Given the description of an element on the screen output the (x, y) to click on. 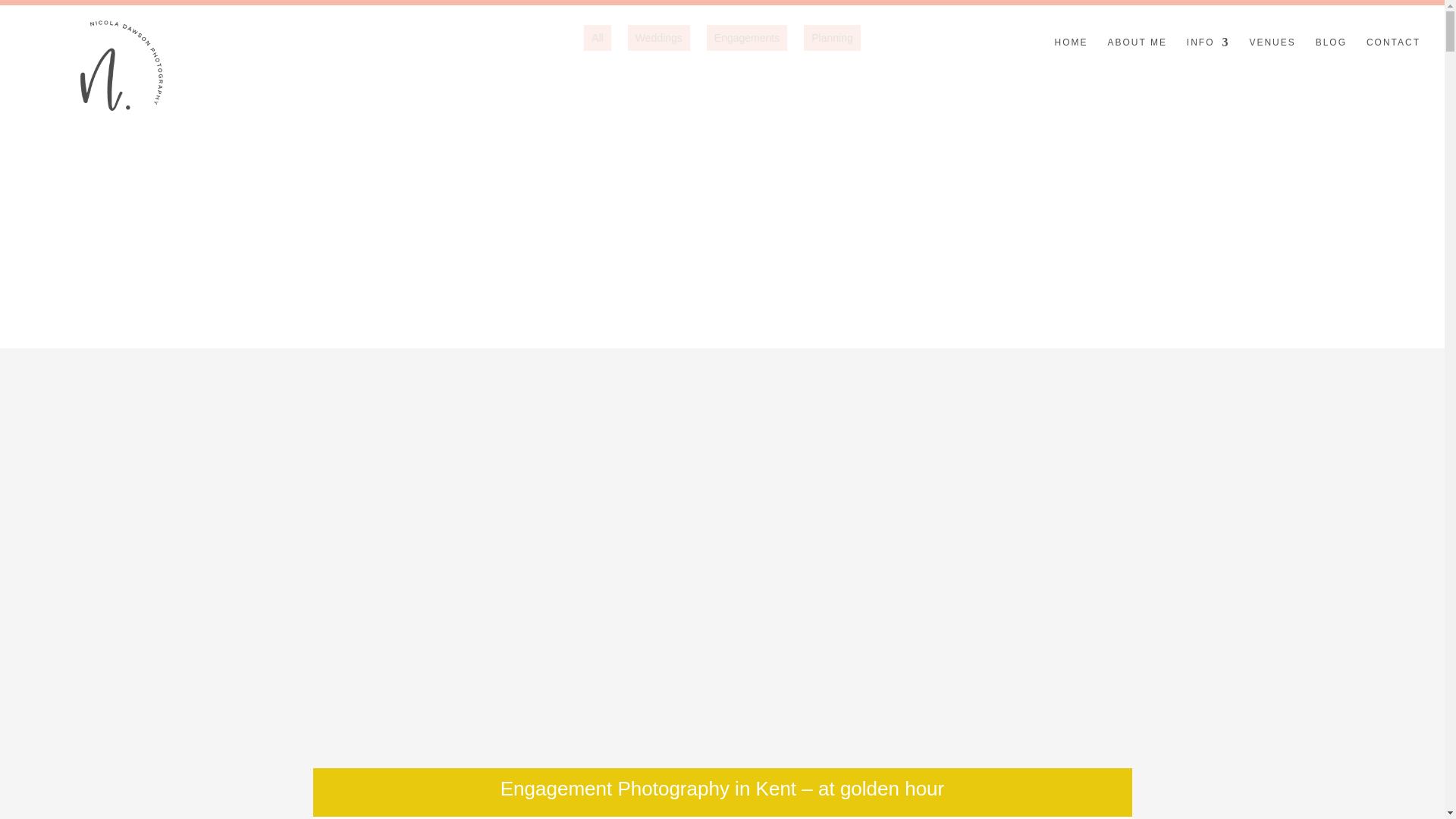
Planning (831, 37)
All (597, 37)
VENUES (1272, 57)
ABOUT ME (1136, 57)
INFO (1208, 57)
Weddings (658, 37)
Engagements (746, 37)
CONTACT (1394, 57)
